Given the description of an element on the screen output the (x, y) to click on. 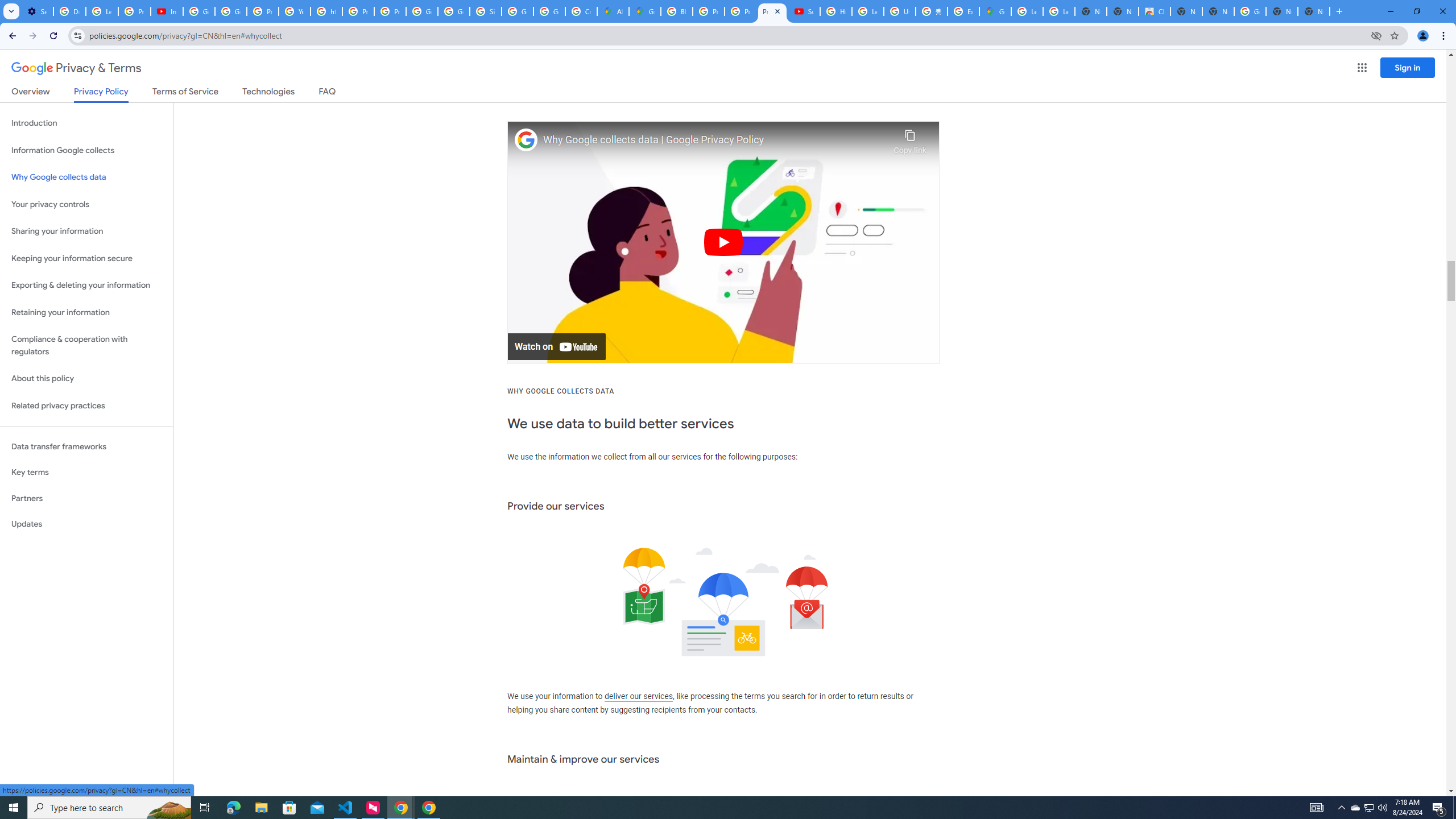
deliver our services (638, 696)
Privacy Help Center - Policies Help (740, 11)
Introduction | Google Privacy Policy - YouTube (166, 11)
Google Images (1249, 11)
Watch on YouTube (556, 346)
